Given the description of an element on the screen output the (x, y) to click on. 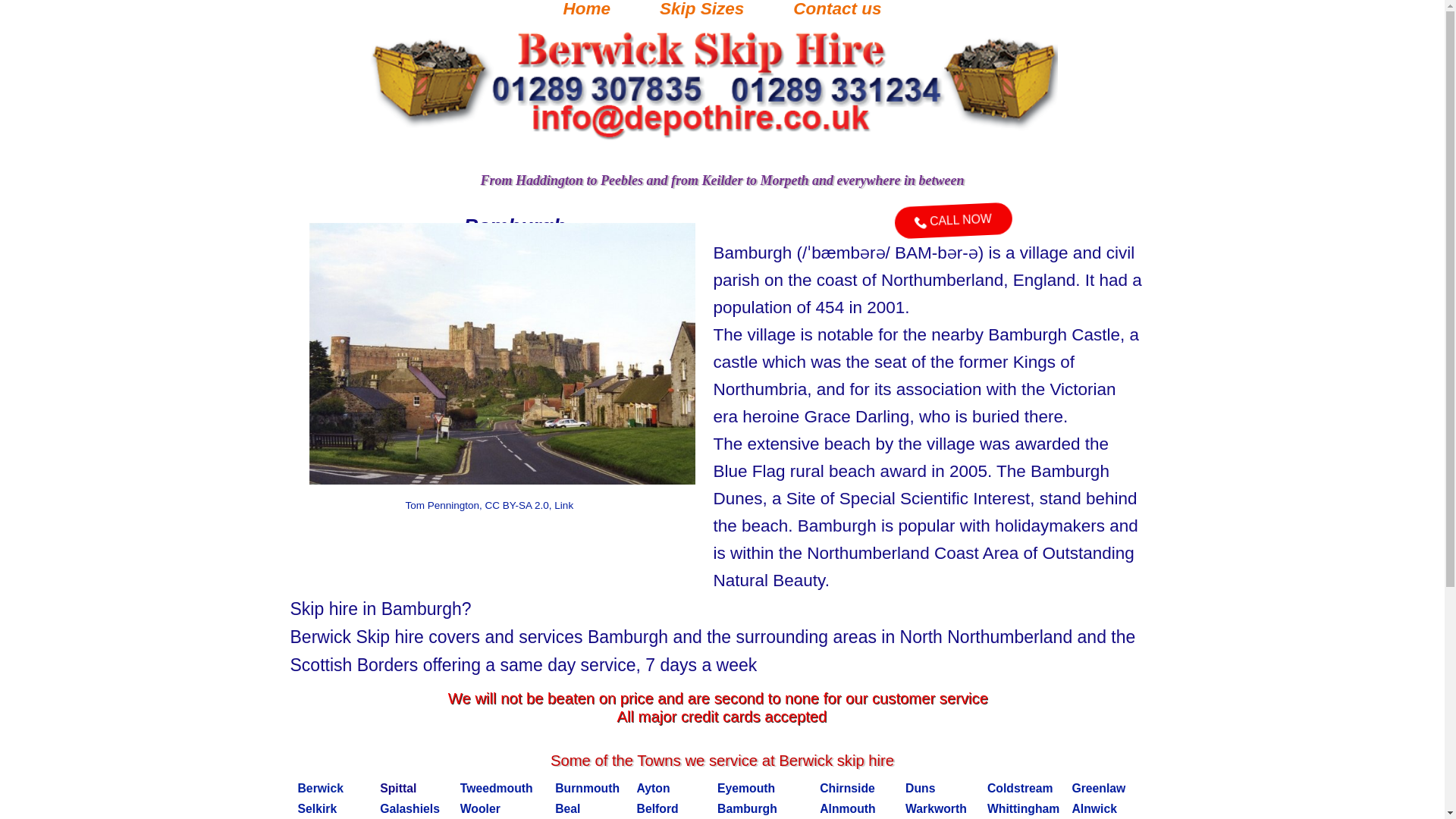
Contact us (836, 12)
Belford (657, 808)
Skip Sizes (701, 12)
Galashiels (409, 808)
Warkworth (935, 808)
Burnmouth (587, 788)
Duns (919, 788)
 CALL NOW (947, 207)
Alnwick (1093, 808)
Coldstream (1019, 788)
Beal (566, 808)
Whittingham (1023, 808)
Home (586, 12)
Wooler (480, 808)
Selkirk (316, 808)
